Given the description of an element on the screen output the (x, y) to click on. 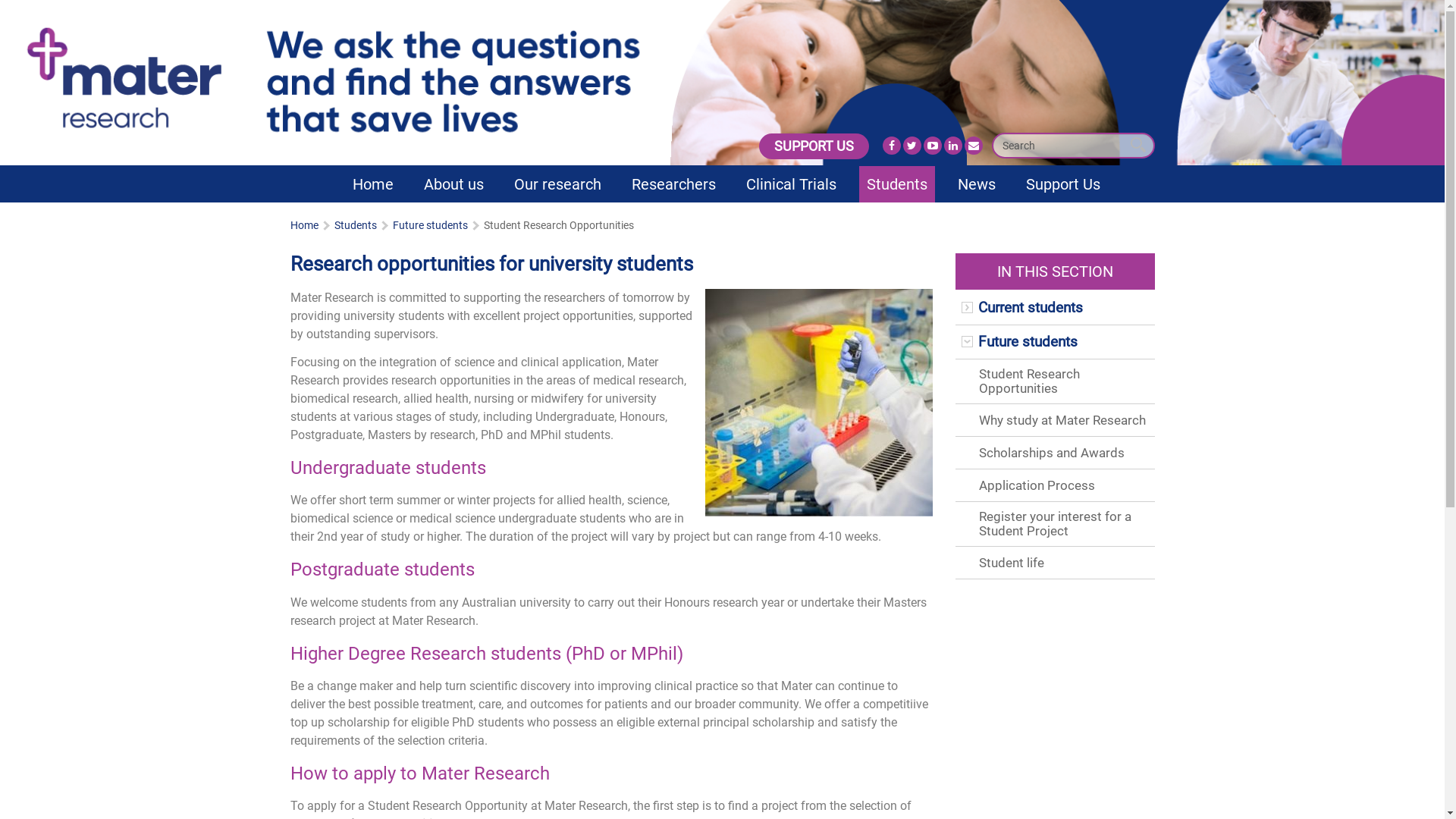
Students Element type: text (896, 184)
Search Element type: text (1136, 145)
Support Us Element type: text (1062, 184)
Lab-image.jpg Element type: hover (818, 402)
Student Research Opportunities Element type: text (1029, 380)
News Element type: text (975, 184)
Future students Element type: text (429, 225)
Application Process Element type: text (1038, 484)
Our research Element type: text (557, 184)
Future students Element type: text (1027, 341)
Register your interest for a Student Project Element type: text (1055, 523)
About us Element type: text (452, 184)
Scholarships and Awards Element type: text (1053, 452)
SUPPORT US Element type: text (813, 146)
Clinical Trials Element type: text (791, 184)
Students Element type: text (354, 225)
Why study at Mater Research Element type: text (1064, 419)
Researchers Element type: text (672, 184)
Home Element type: text (372, 184)
Home Element type: text (303, 225)
Current students Element type: text (1030, 307)
Student life Element type: text (1013, 562)
